Given the description of an element on the screen output the (x, y) to click on. 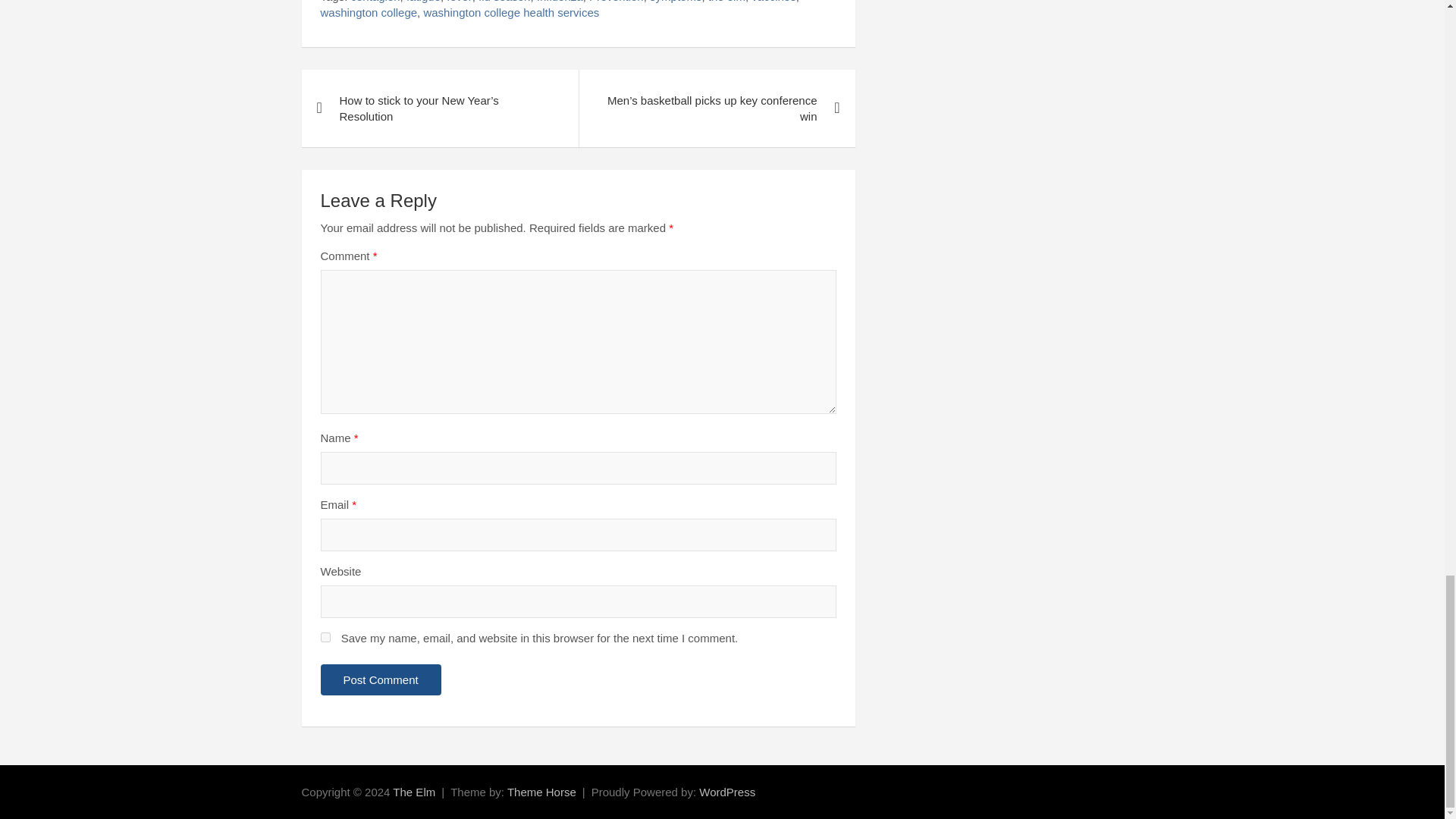
The Elm (414, 791)
fever (458, 2)
flu season (504, 2)
Influenza (560, 2)
the elm (726, 2)
fatigue (423, 2)
washington college health services (510, 12)
Post Comment (380, 679)
contagion (375, 2)
Prevention (616, 2)
yes (325, 637)
symptoms (675, 2)
WordPress (726, 791)
Theme Horse (541, 791)
vaccines (772, 2)
